Given the description of an element on the screen output the (x, y) to click on. 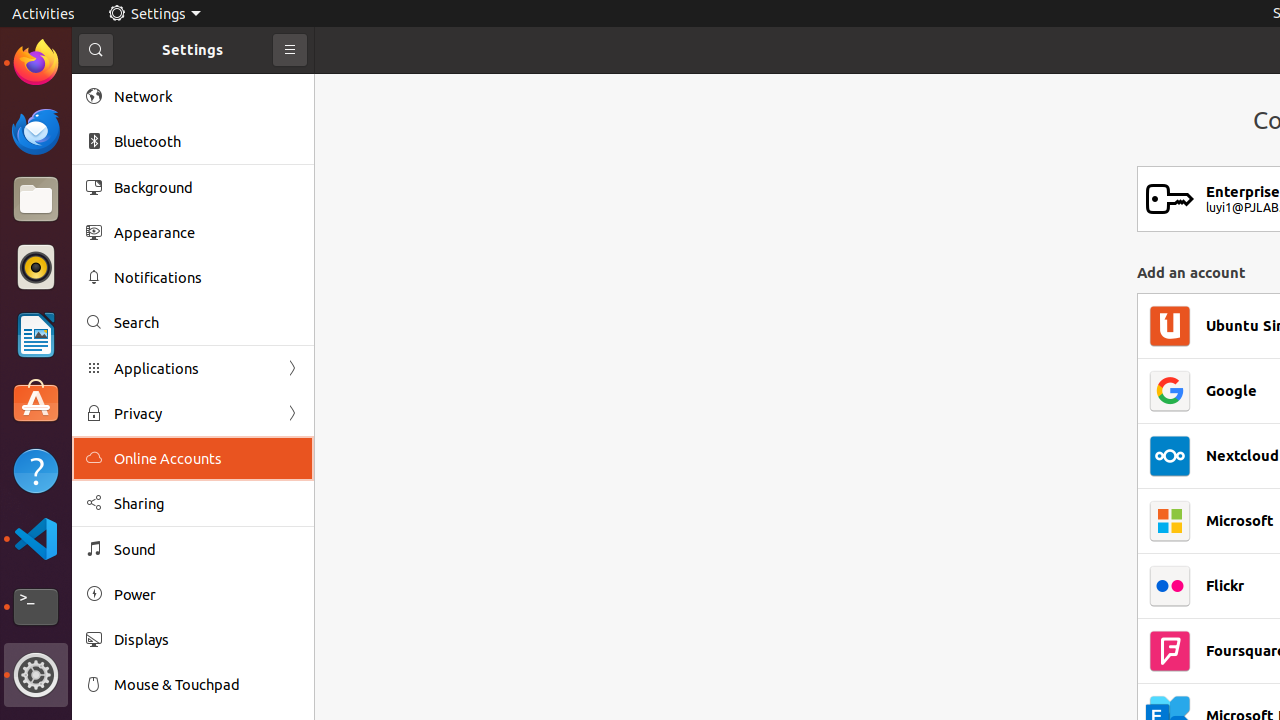
Flickr Element type: label (1225, 586)
Notifications Element type: label (207, 277)
Activities Element type: label (43, 13)
Nextcloud Element type: label (1242, 456)
Displays Element type: label (207, 639)
